Given the description of an element on the screen output the (x, y) to click on. 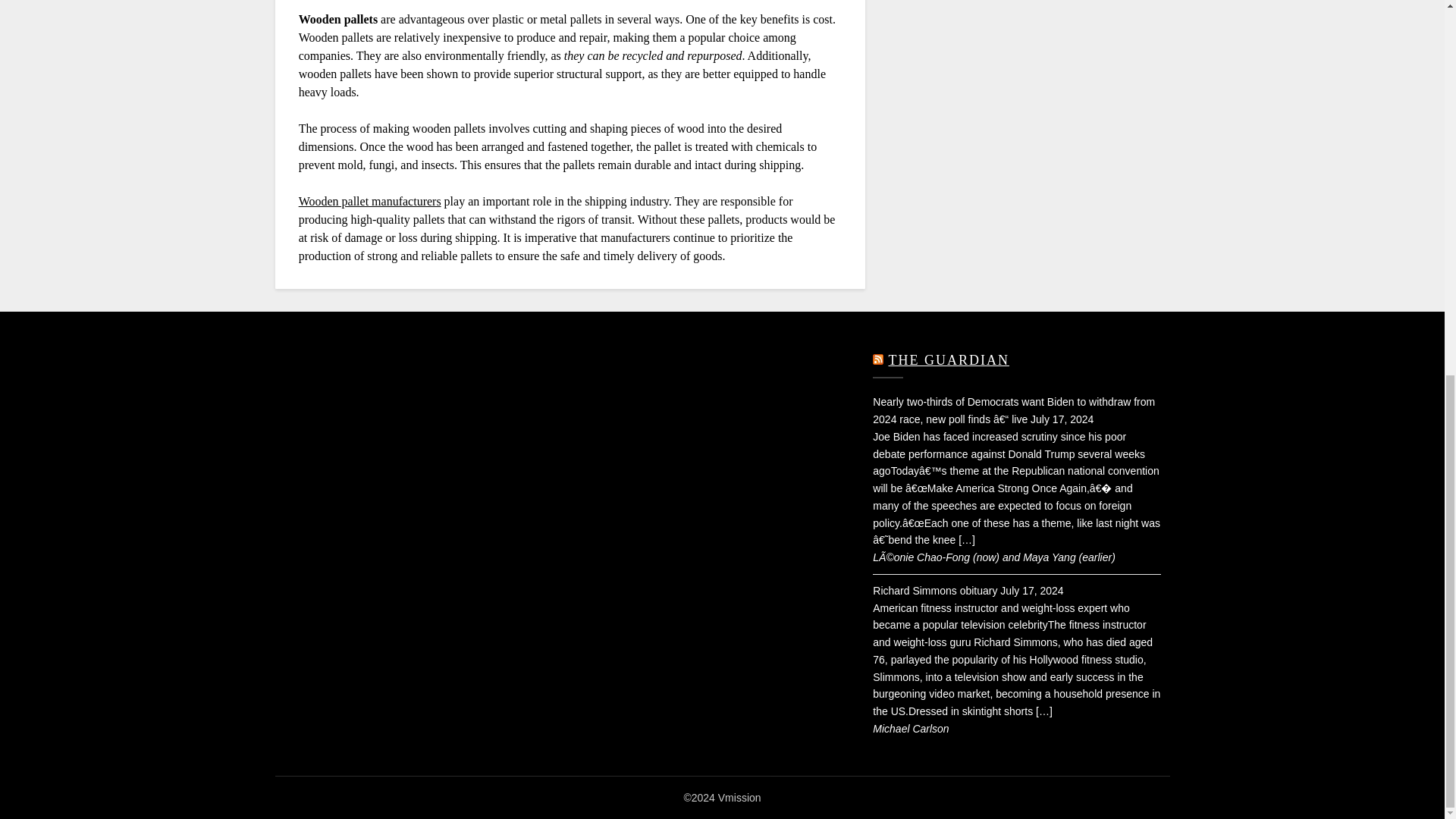
Wooden pallet manufacturers (369, 201)
Richard Simmons obituary (934, 590)
THE GUARDIAN (948, 359)
